Given the description of an element on the screen output the (x, y) to click on. 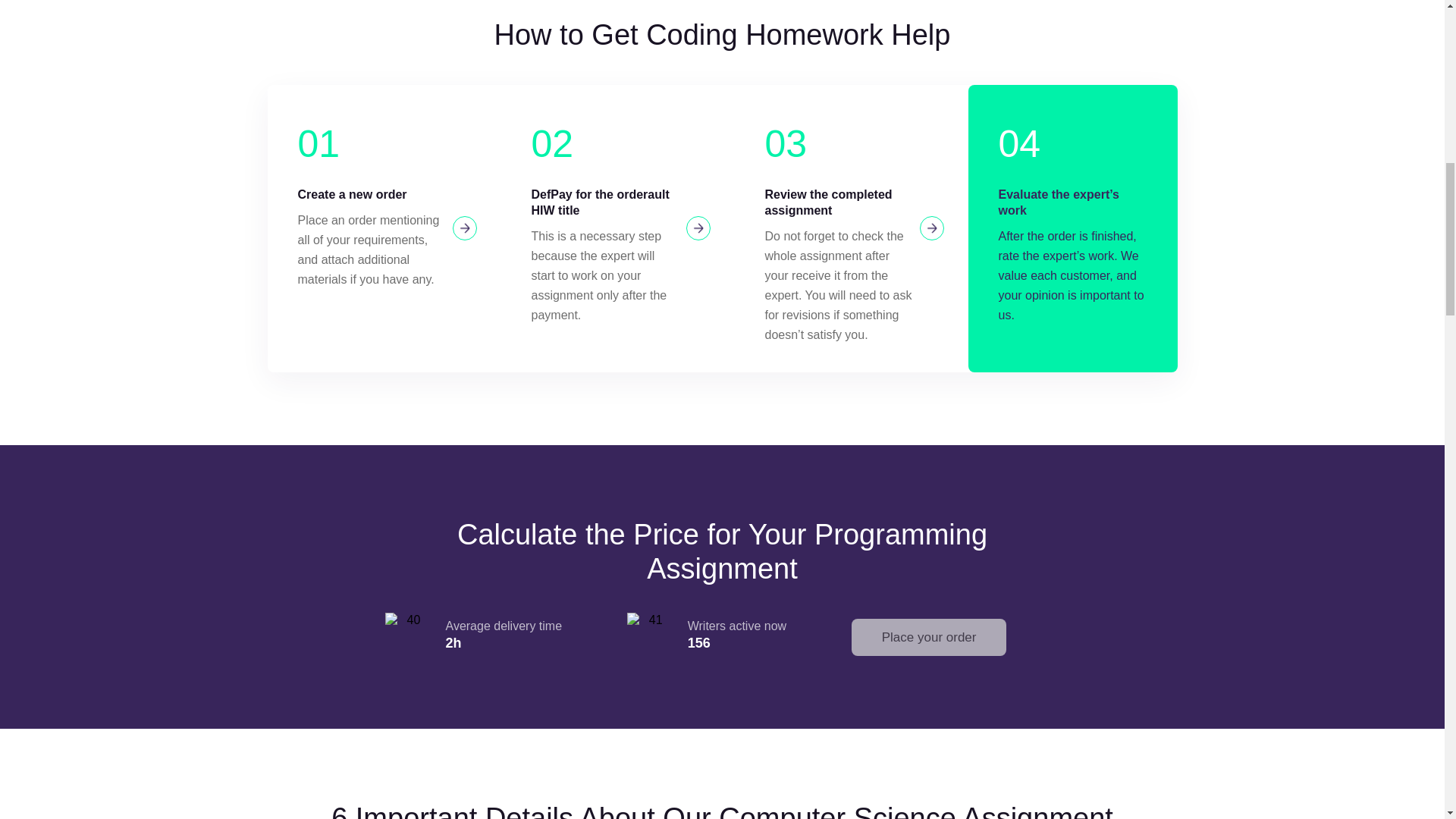
Place your order (929, 637)
